Given the description of an element on the screen output the (x, y) to click on. 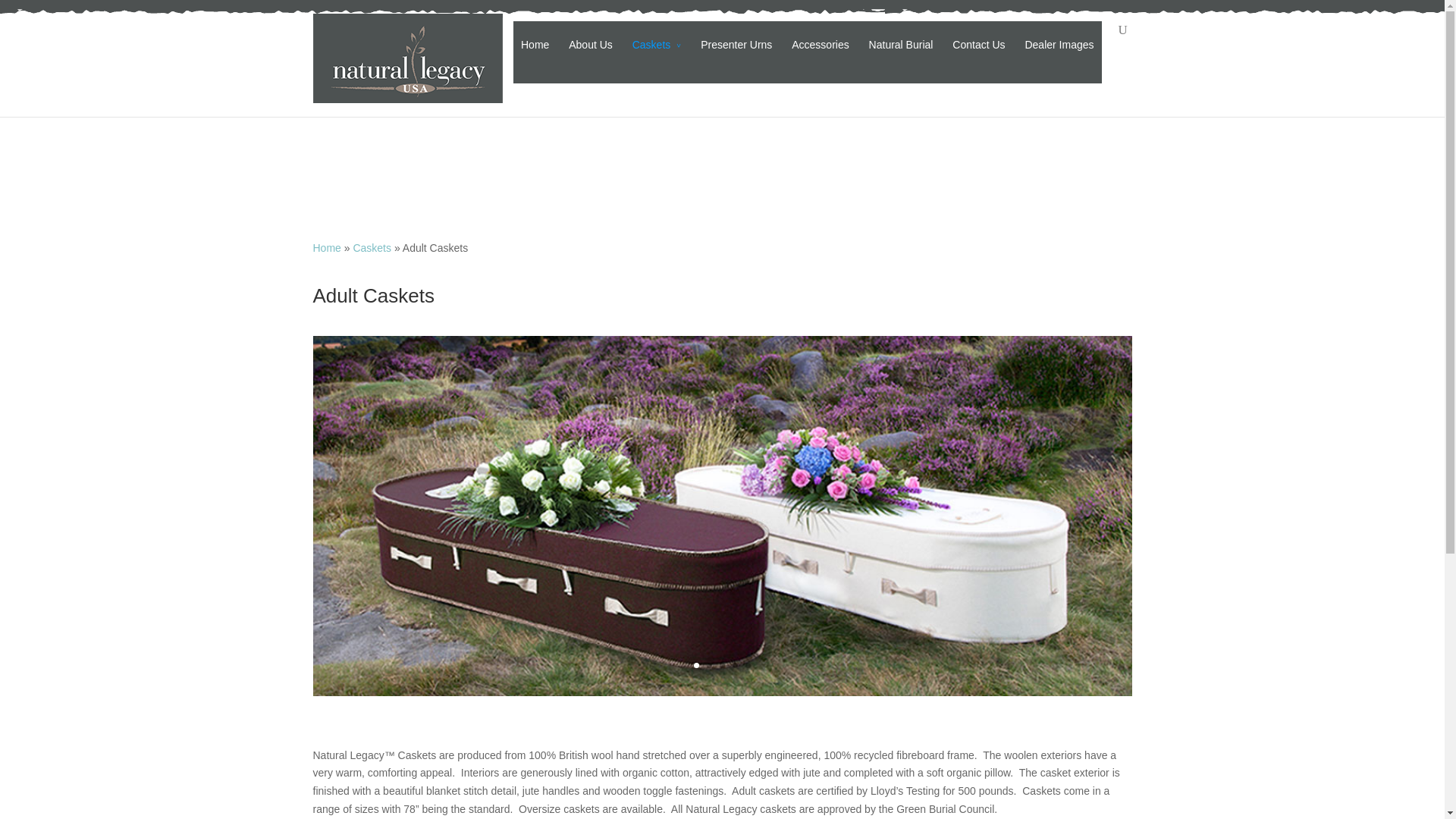
Caskets (656, 56)
5 (748, 665)
4 (735, 665)
Natural Burial (901, 56)
Caskets (371, 247)
Presenter Urns (735, 56)
About Us (590, 56)
Caskets (371, 247)
Home (326, 247)
3 (722, 665)
Home (326, 247)
Accessories (820, 56)
Dealer Images (1059, 56)
Contact Us (978, 56)
